Given the description of an element on the screen output the (x, y) to click on. 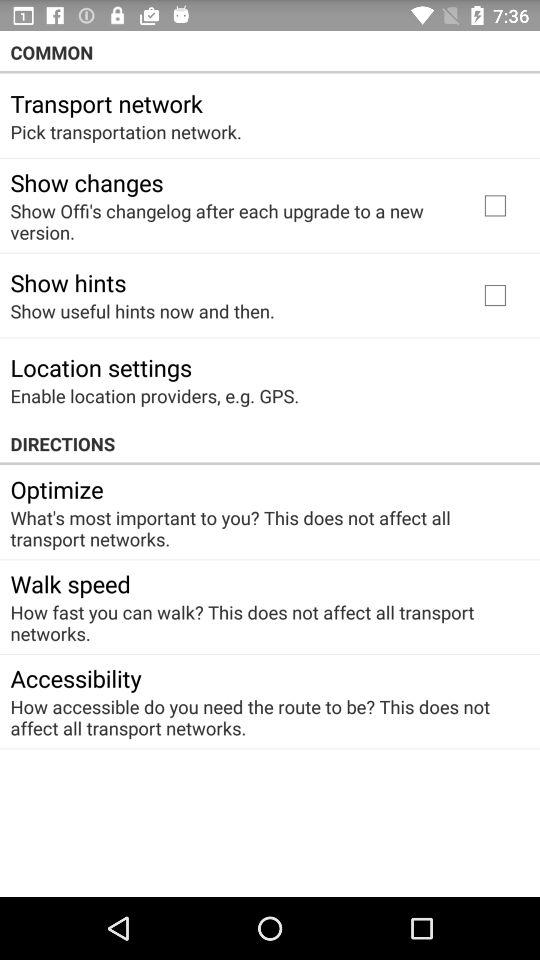
jump to the show offi s item (231, 221)
